Given the description of an element on the screen output the (x, y) to click on. 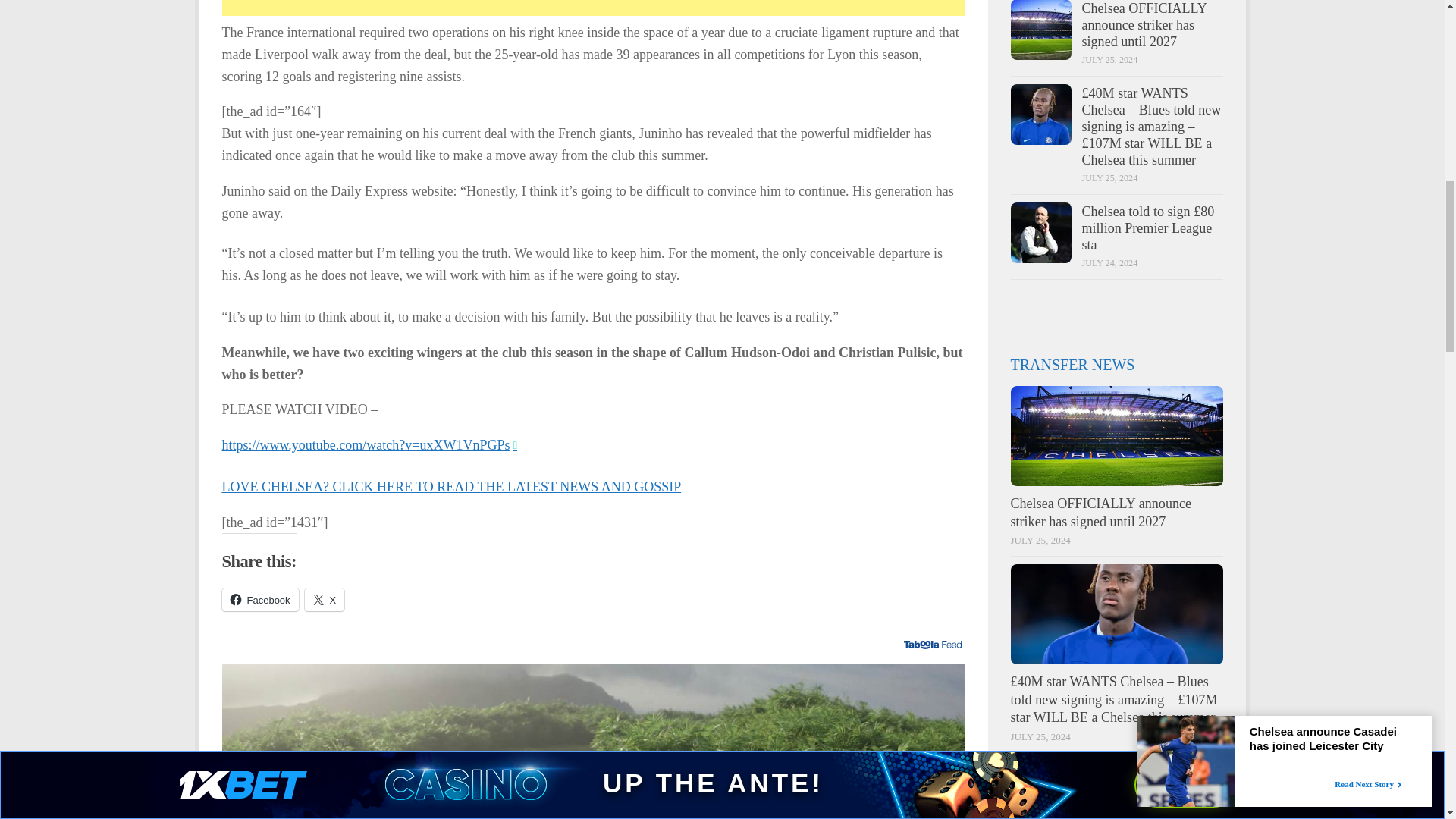
Advertisement (524, 7)
Click to share on X (324, 599)
Facebook (259, 599)
X (324, 599)
Click to share on Facebook (259, 599)
LOVE CHELSEA? CLICK HERE TO READ THE LATEST NEWS AND GOSSIP (451, 486)
